Given the description of an element on the screen output the (x, y) to click on. 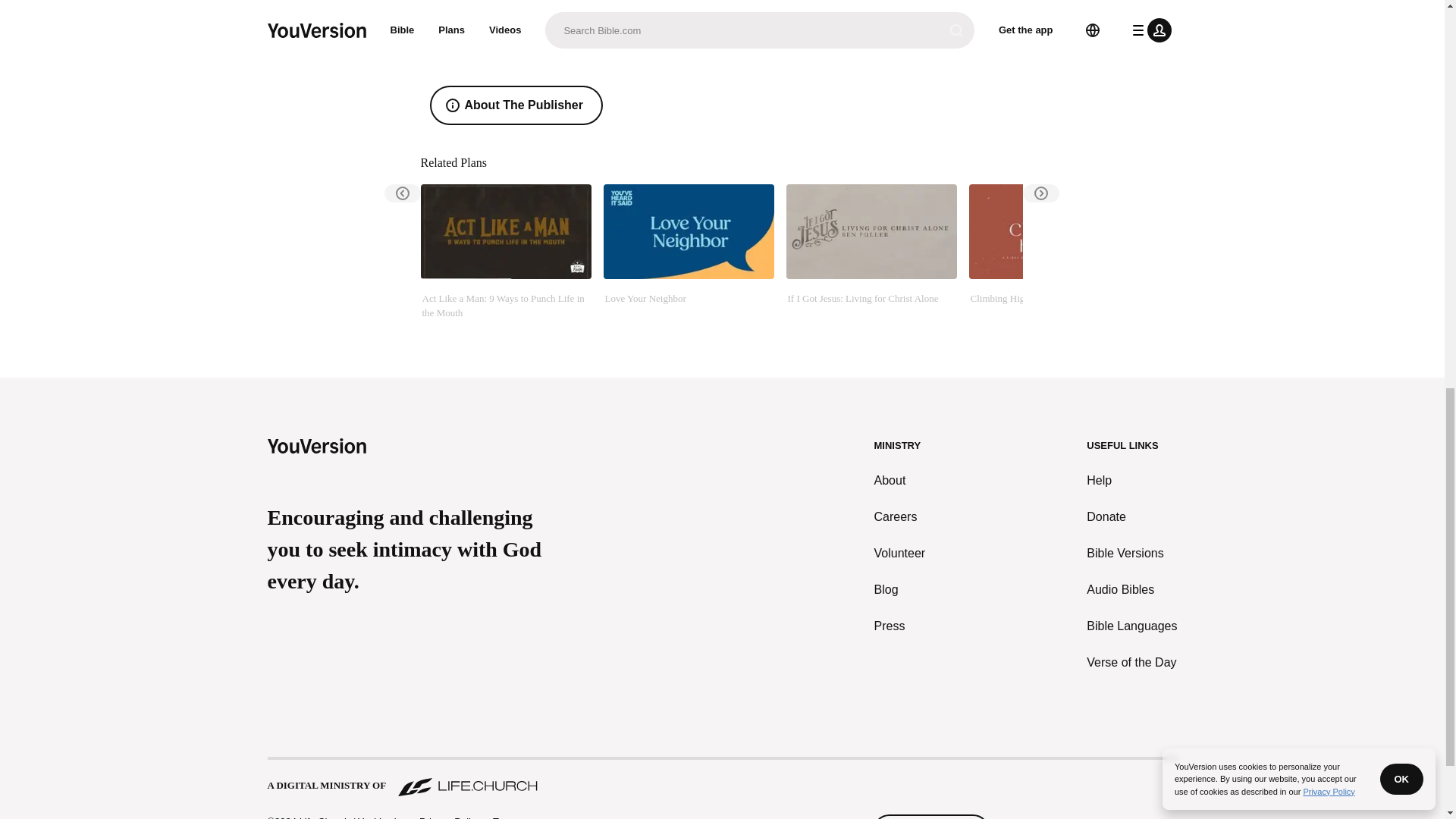
Act Like a Man: 9 Ways to Punch Life in the Mouth (505, 259)
Verse of the Day (1131, 662)
Bible Versions (1131, 553)
Help (1131, 480)
Press (900, 626)
Climbing Higher (1054, 259)
Careers (900, 516)
Volunteer (900, 553)
Terms (506, 817)
Blog (900, 589)
About The Publisher (514, 104)
Donate (1131, 516)
About (900, 480)
A DIGITAL MINISTRY OF (721, 778)
Audio Bibles (1131, 589)
